Given the description of an element on the screen output the (x, y) to click on. 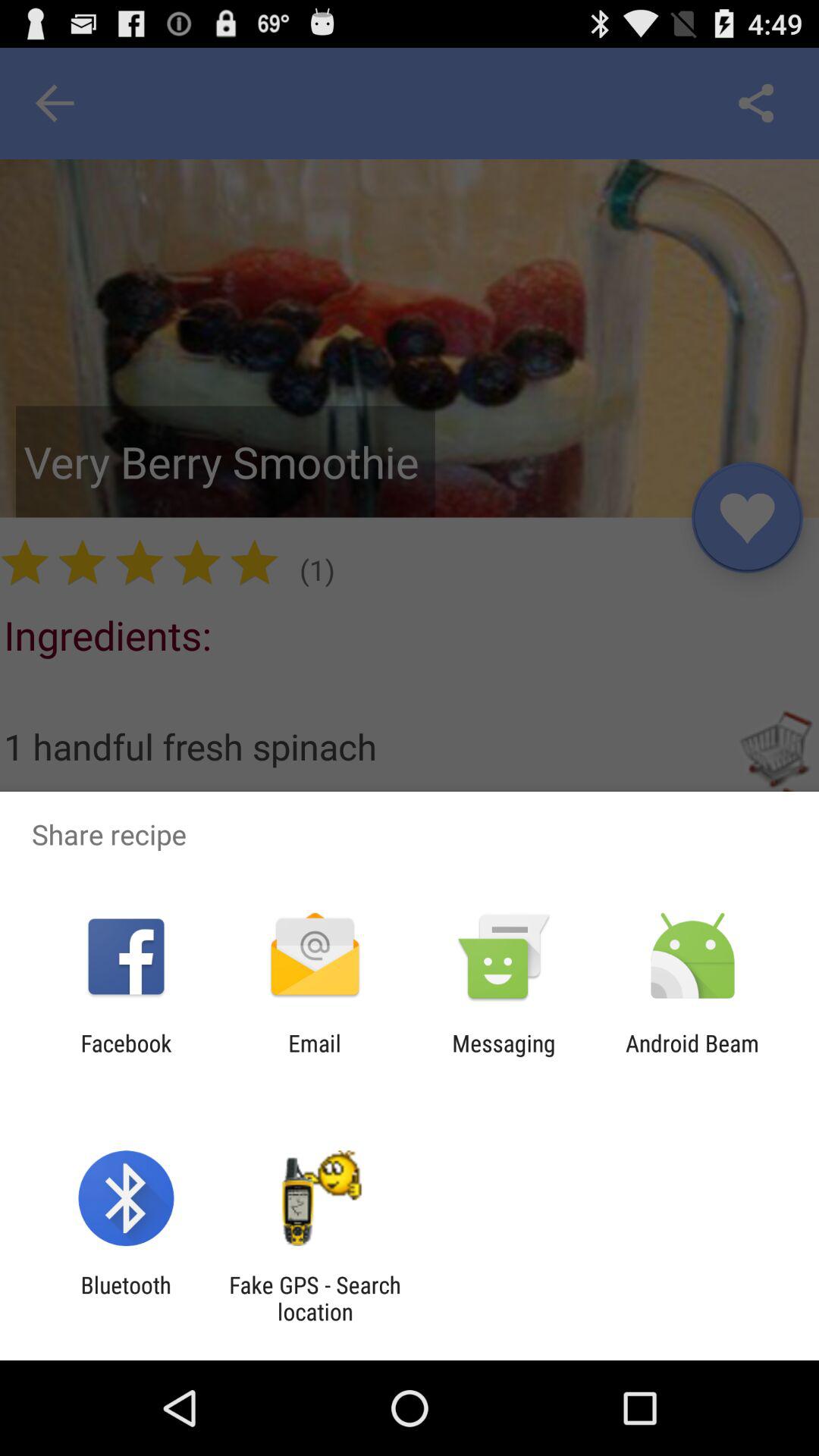
press the android beam item (692, 1056)
